Given the description of an element on the screen output the (x, y) to click on. 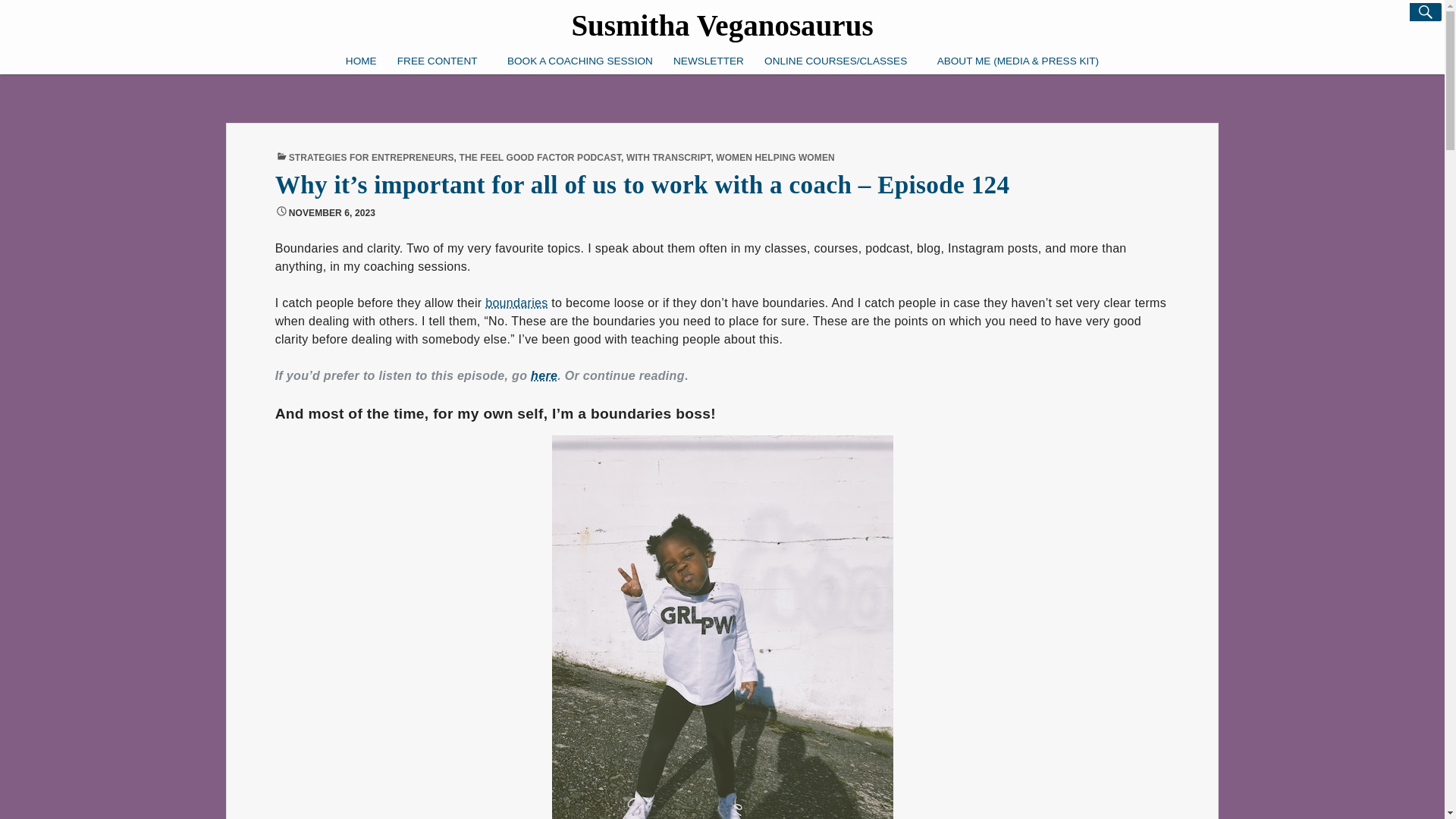
WITH TRANSCRIPT (668, 157)
WOMEN HELPING WOMEN (775, 157)
here (544, 376)
BOOK A COACHING SESSION (579, 39)
HOME (360, 9)
NEWSLETTER (708, 40)
NOVEMBER 6, 2023 (331, 213)
STRATEGIES FOR ENTREPRENEURS (371, 157)
boundaries (515, 303)
FREE CONTENT (441, 12)
THE FEEL GOOD FACTOR PODCAST (539, 157)
